Given the description of an element on the screen output the (x, y) to click on. 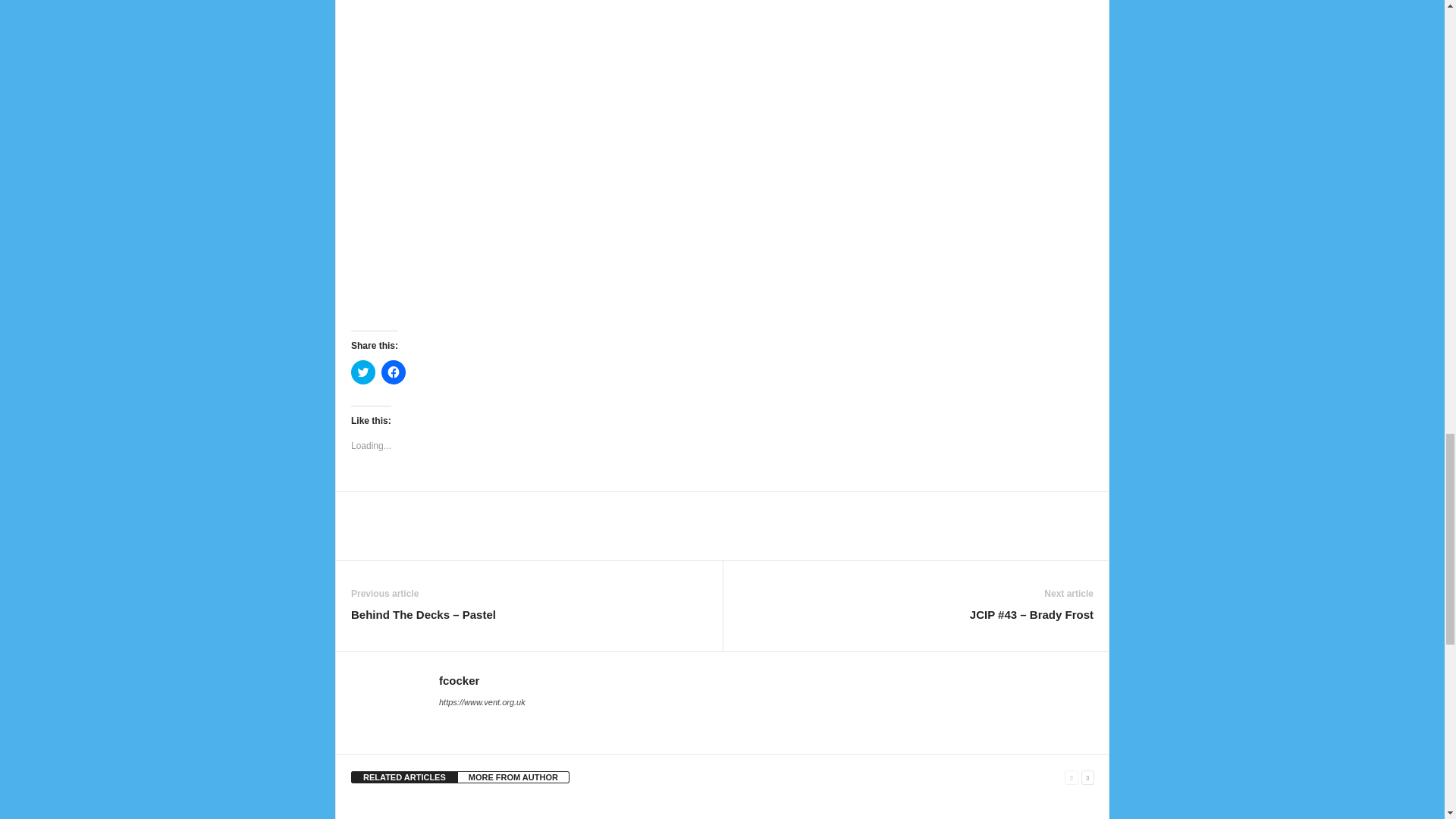
bottomFacebookLike (390, 507)
Click to share on Twitter (362, 372)
Click to share on Facebook (393, 372)
